Given the description of an element on the screen output the (x, y) to click on. 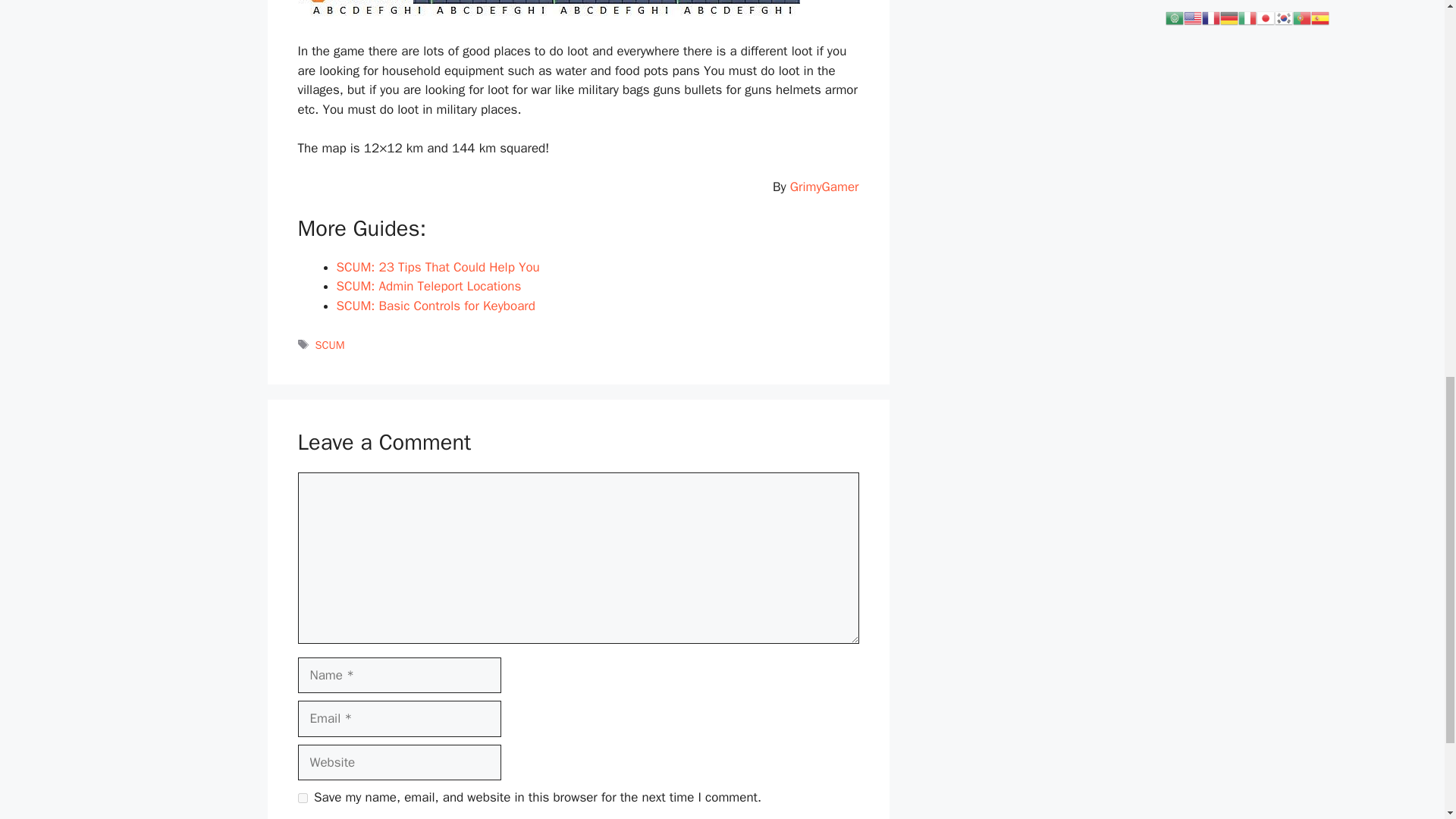
SCUM: Basic Controls for Keyboard (435, 305)
SCUM: 23 Tips That Could Help You (438, 267)
SCUM: Admin Teleport Locations (428, 286)
SCUM: Basic Controls for Keyboard (435, 305)
SCUM (330, 345)
yes (302, 798)
GrimyGamer (824, 186)
SCUM: 23 Tips That Could Help You (438, 267)
Scroll back to top (1406, 720)
SCUM: Admin Teleport Locations (428, 286)
